Given the description of an element on the screen output the (x, y) to click on. 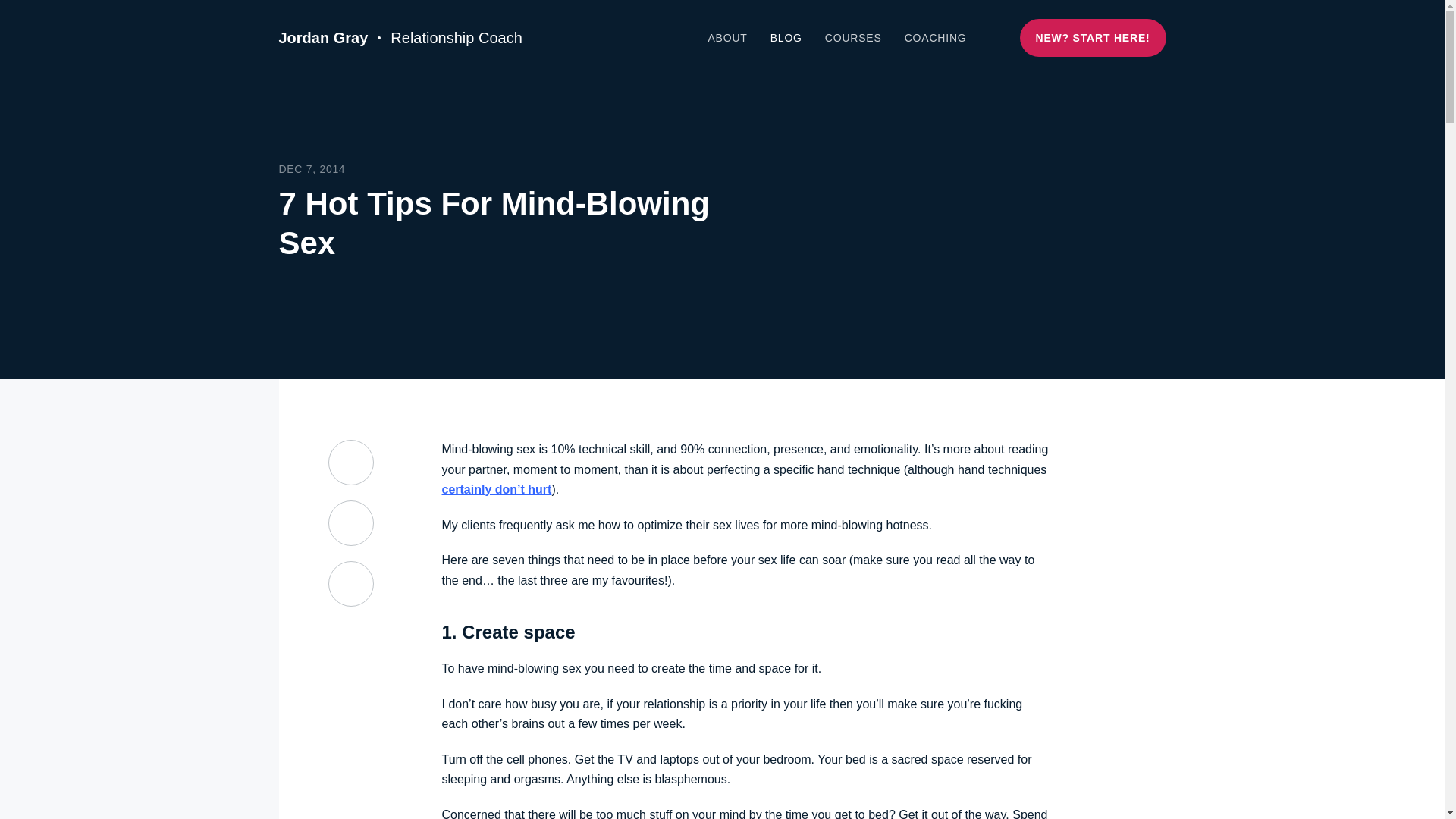
COURSES (853, 37)
NEW? START HERE! (1093, 37)
ABOUT (726, 37)
COACHING (935, 37)
BLOG (786, 37)
